Given the description of an element on the screen output the (x, y) to click on. 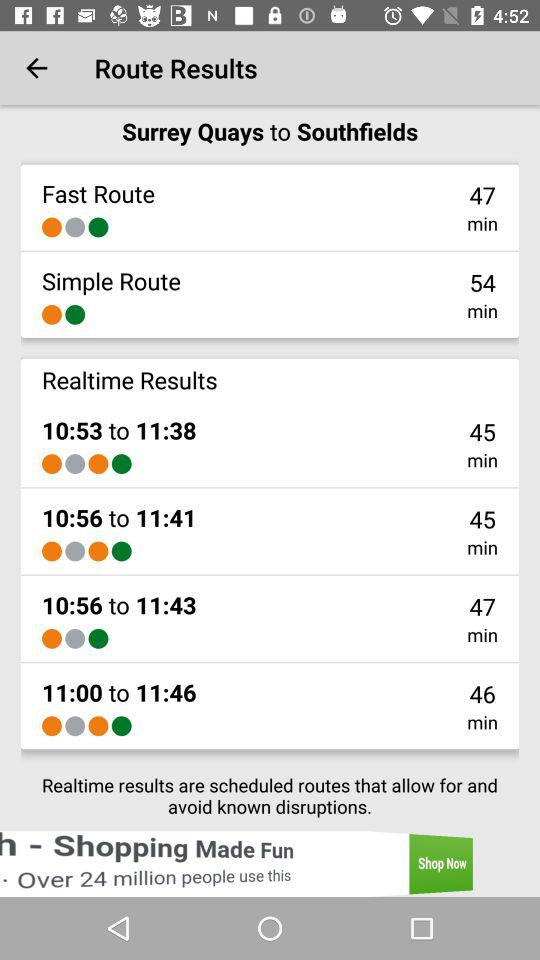
launch icon below realtime results are (270, 863)
